Given the description of an element on the screen output the (x, y) to click on. 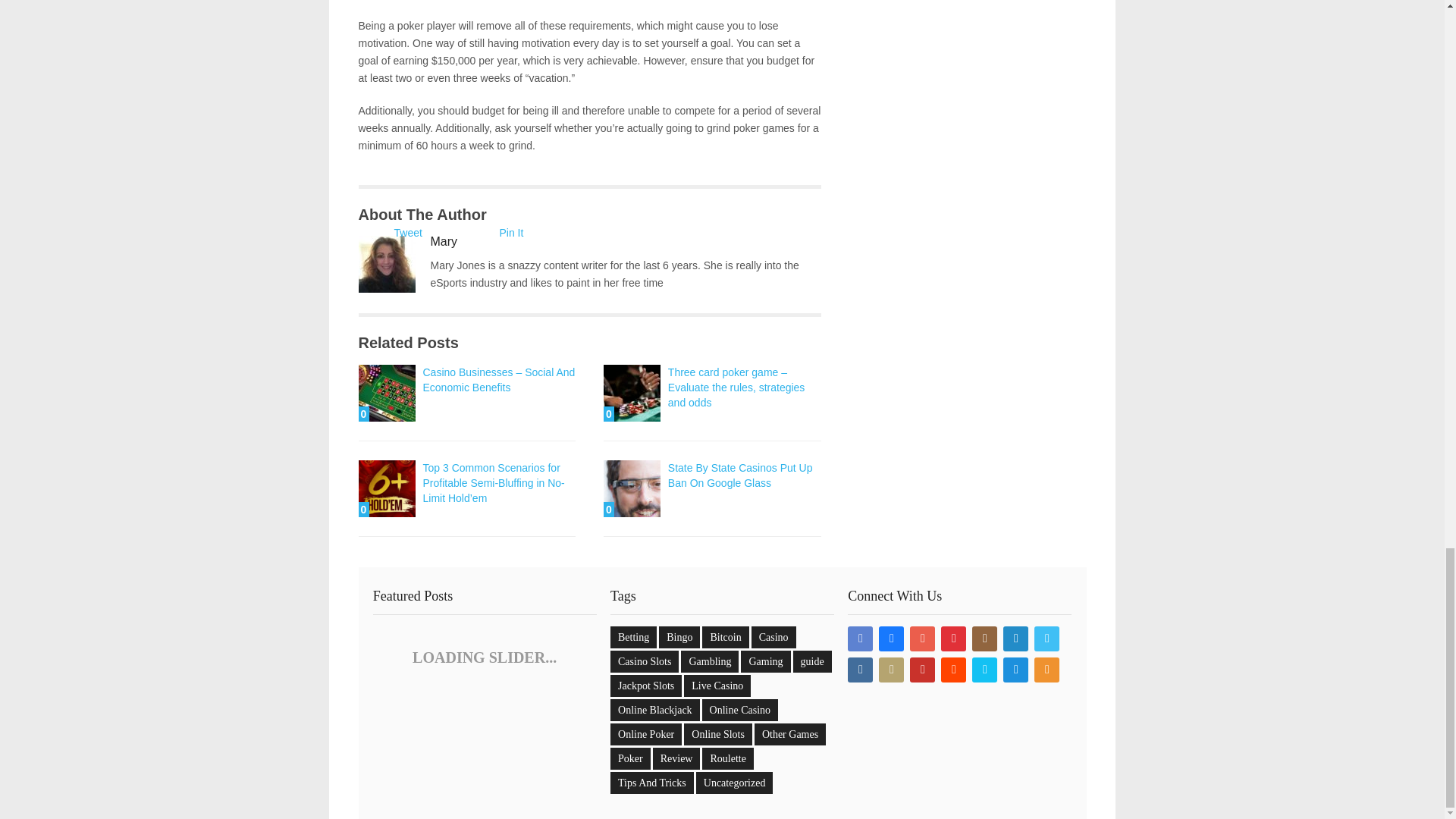
Mary (444, 241)
0 (632, 392)
State By State Casinos Put Up Ban On Google Glass (632, 488)
0 (386, 488)
0 (386, 392)
